Given the description of an element on the screen output the (x, y) to click on. 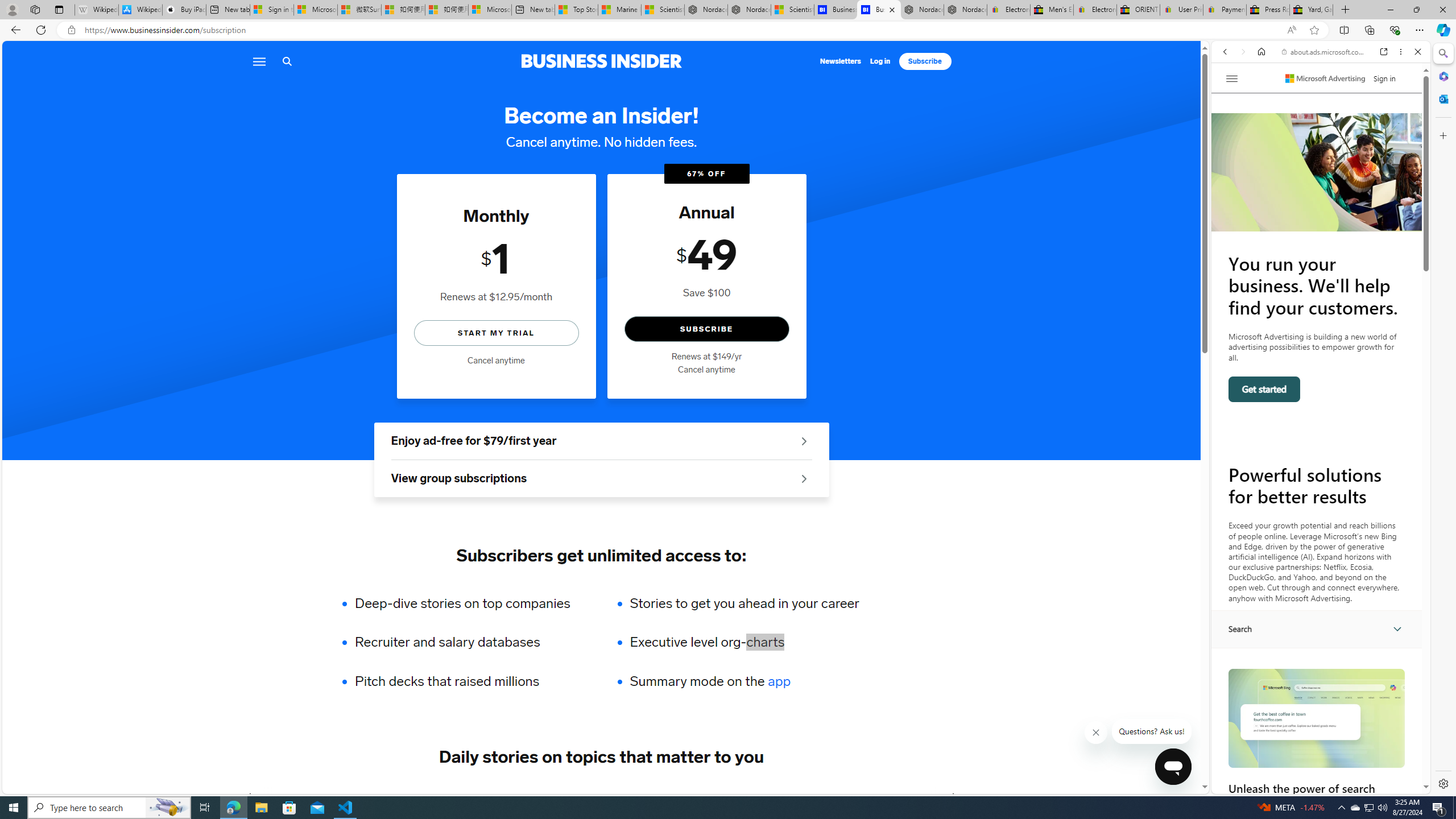
EXECUTIVE LIFESTYLE (788, 796)
Menu icon (257, 61)
Business Insider logo (601, 60)
Subscribe (925, 61)
